Given the description of an element on the screen output the (x, y) to click on. 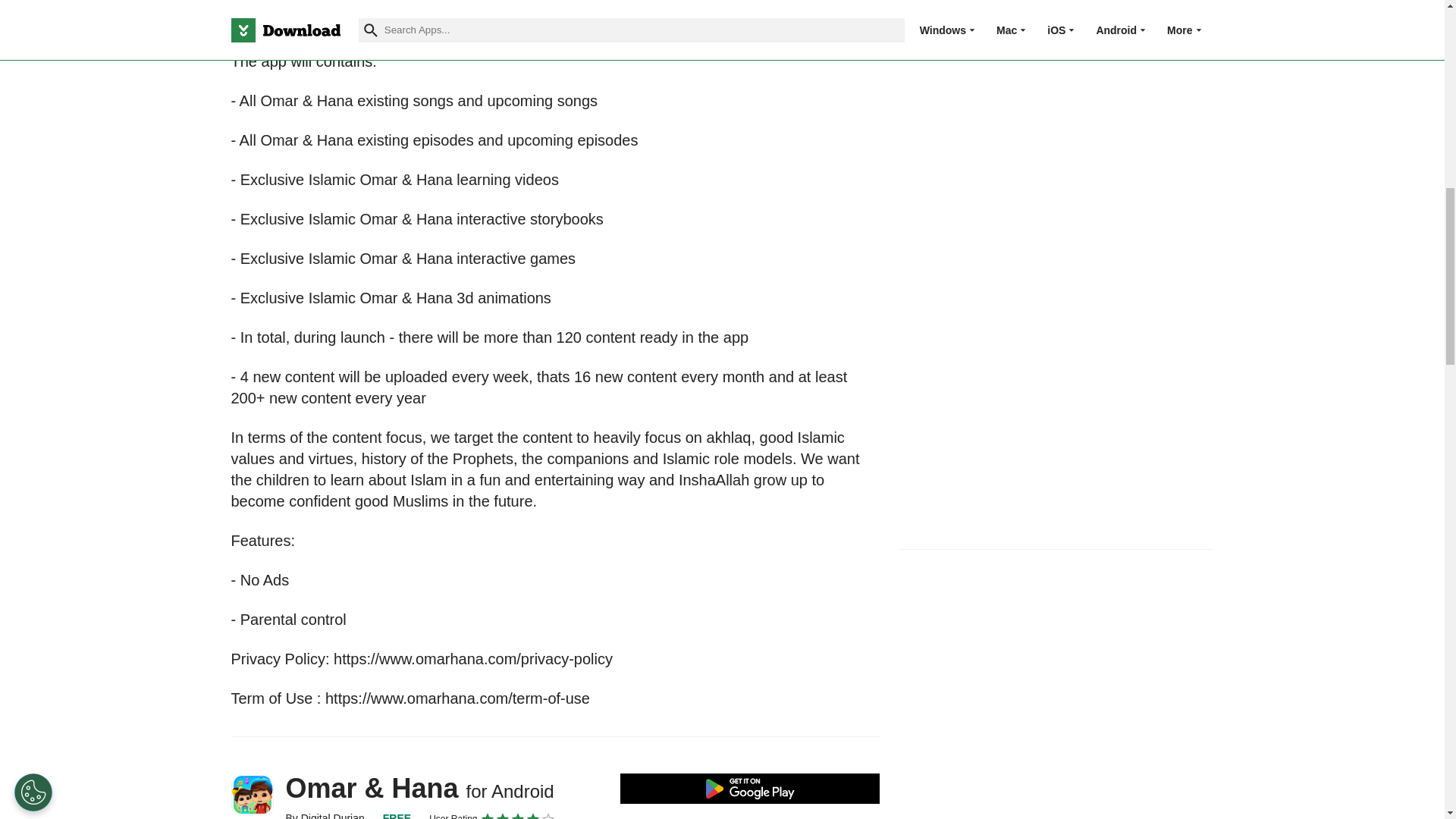
Get it on Google Play (750, 788)
